Given the description of an element on the screen output the (x, y) to click on. 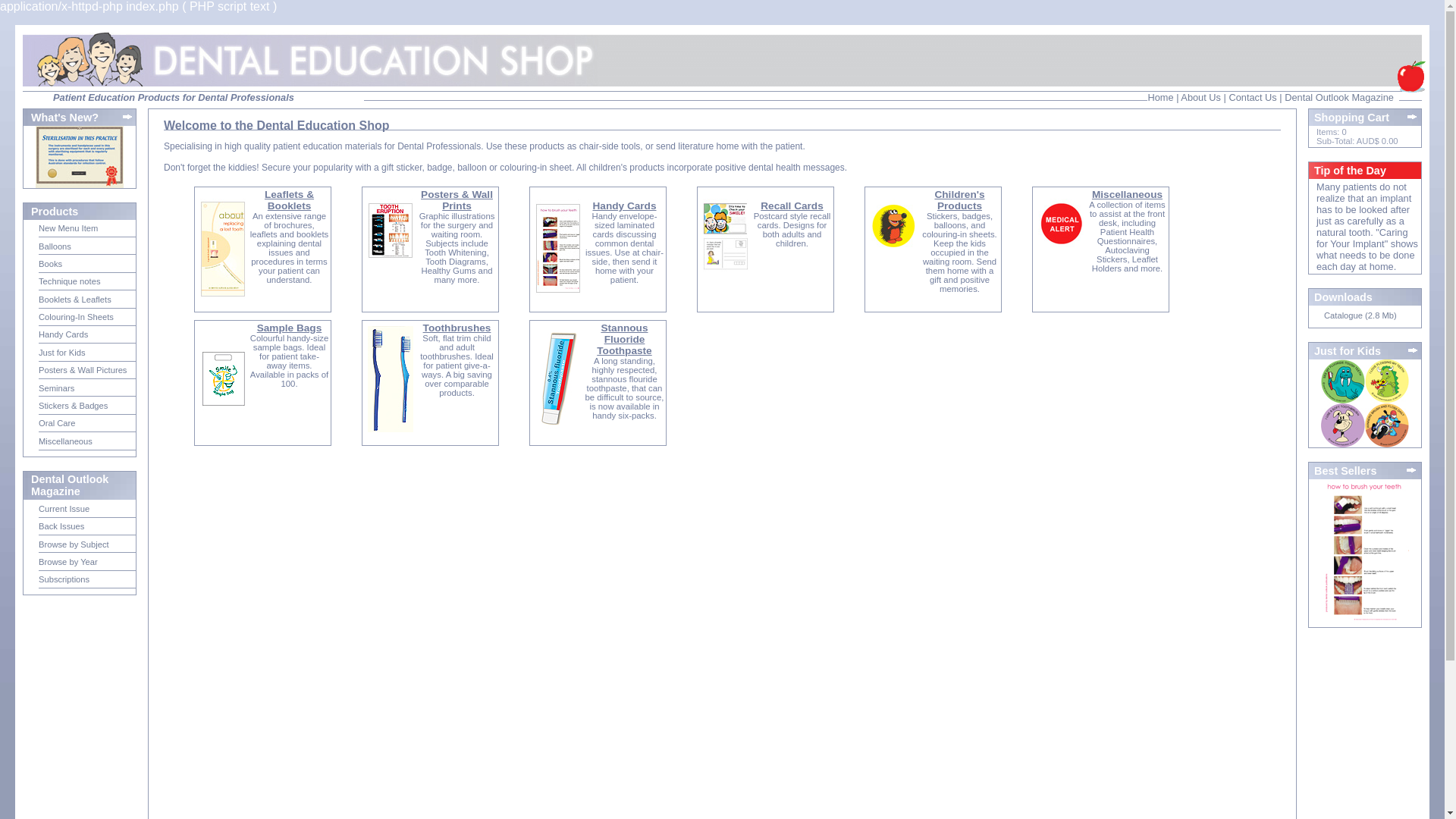
Handy Cards Element type: text (62, 333)
Stannous Fluoride Toothpaste Element type: text (623, 339)
Miscellaneous Element type: text (65, 440)
Children's Products Element type: text (959, 199)
Current Issue Element type: text (63, 508)
Oral Care Element type: text (56, 422)
Back Issues Element type: text (61, 525)
Books Element type: text (50, 263)
Sample Bags Element type: text (289, 327)
Seminars Element type: text (56, 387)
Just for Kids Element type: text (61, 352)
New Menu Item Element type: text (67, 227)
Dental Outlook Magazine Element type: text (1338, 97)
Toothbrushes Element type: text (457, 327)
About Us Element type: text (1200, 97)
Subscriptions Element type: text (63, 578)
Browse by Subject Element type: text (73, 544)
Contact Us Element type: text (1252, 97)
Posters & Wall Pictures Element type: text (82, 369)
Colouring-In Sheets Element type: text (75, 316)
Leaflets & Booklets Element type: text (288, 199)
Catalogue (2.8 Mb) Element type: text (1360, 315)
Posters & Wall Prints Element type: text (456, 199)
Recall Cards Element type: text (791, 211)
What's New?        Element type: text (75, 117)
Handy Cards Element type: text (623, 211)
Balloons Element type: text (54, 246)
Stickers & Badges Element type: text (72, 405)
Browse by Year Element type: text (67, 561)
Technique notes Element type: text (69, 280)
Just for Kids         Element type: text (1366, 351)
Home Element type: text (1160, 97)
Booklets & Leaflets Element type: text (74, 299)
Miscellaneous Element type: text (1127, 194)
Best Sellers          Element type: text (1365, 470)
Shopping Cart      Element type: text (1365, 117)
